Given the description of an element on the screen output the (x, y) to click on. 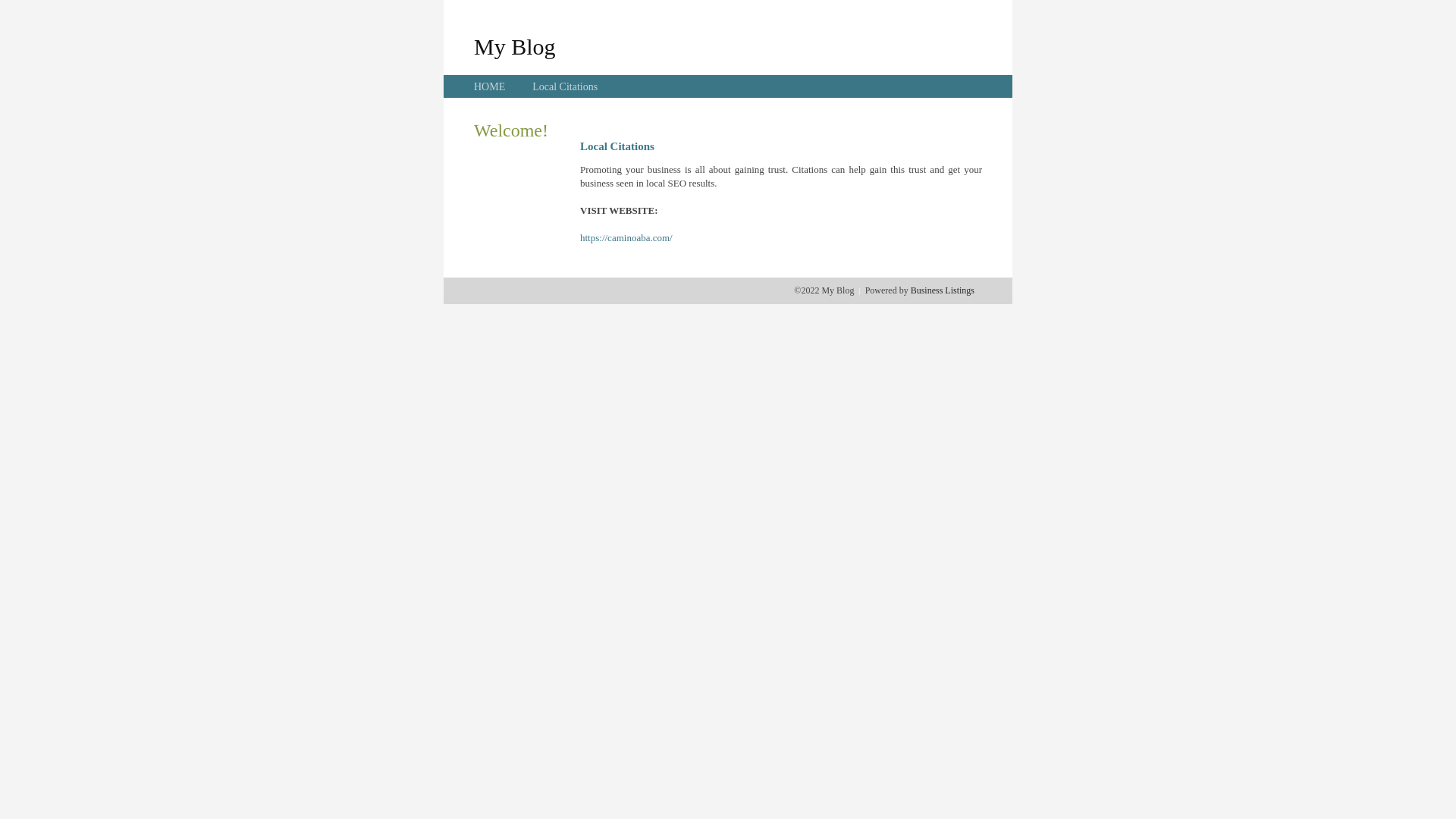
Local Citations Element type: text (564, 86)
https://caminoaba.com/ Element type: text (626, 237)
My Blog Element type: text (514, 46)
Business Listings Element type: text (942, 290)
HOME Element type: text (489, 86)
